Given the description of an element on the screen output the (x, y) to click on. 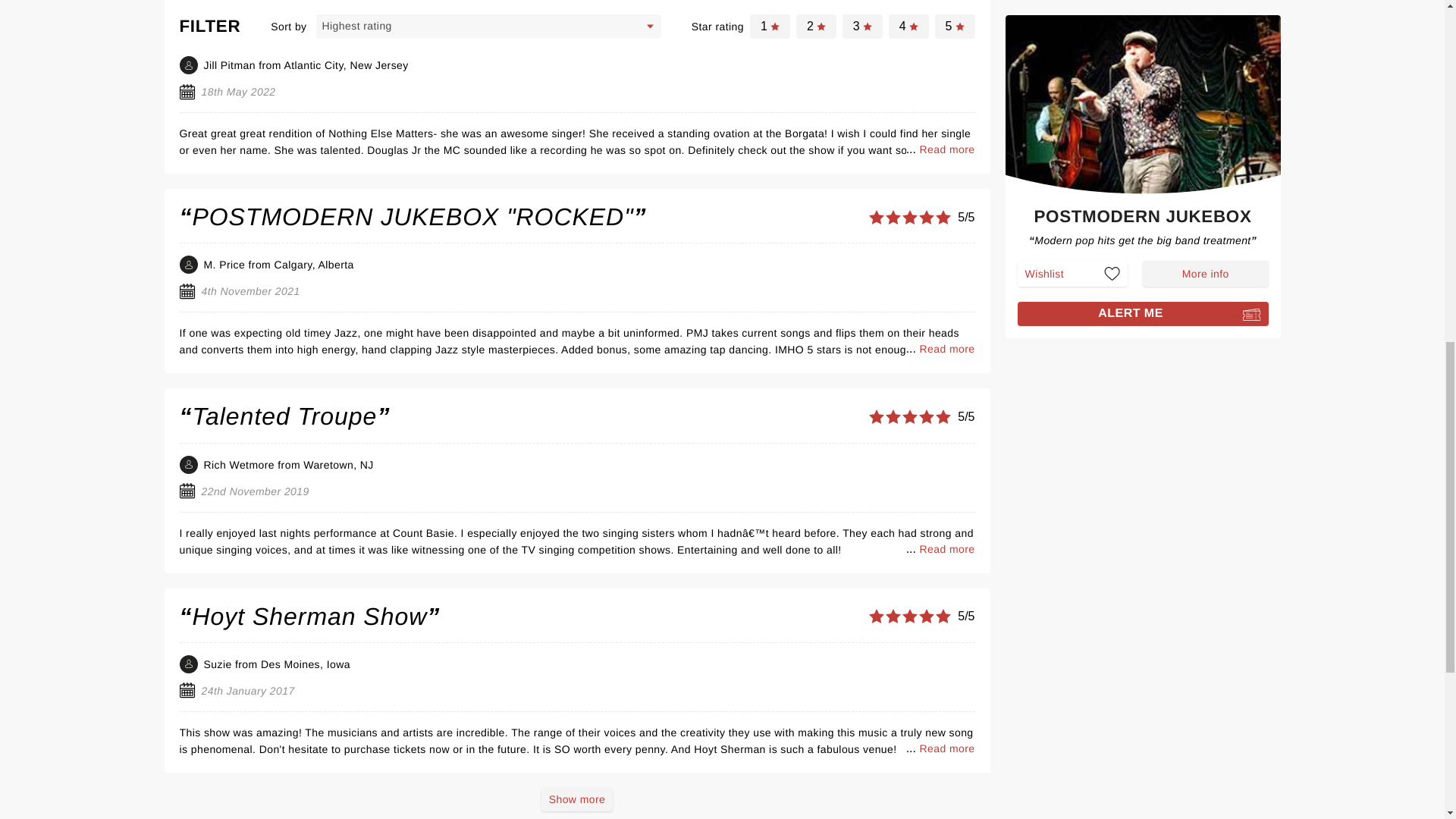
Show more (576, 799)
Read more (946, 748)
Read more (946, 348)
Read more (946, 548)
Read more (946, 149)
